Given the description of an element on the screen output the (x, y) to click on. 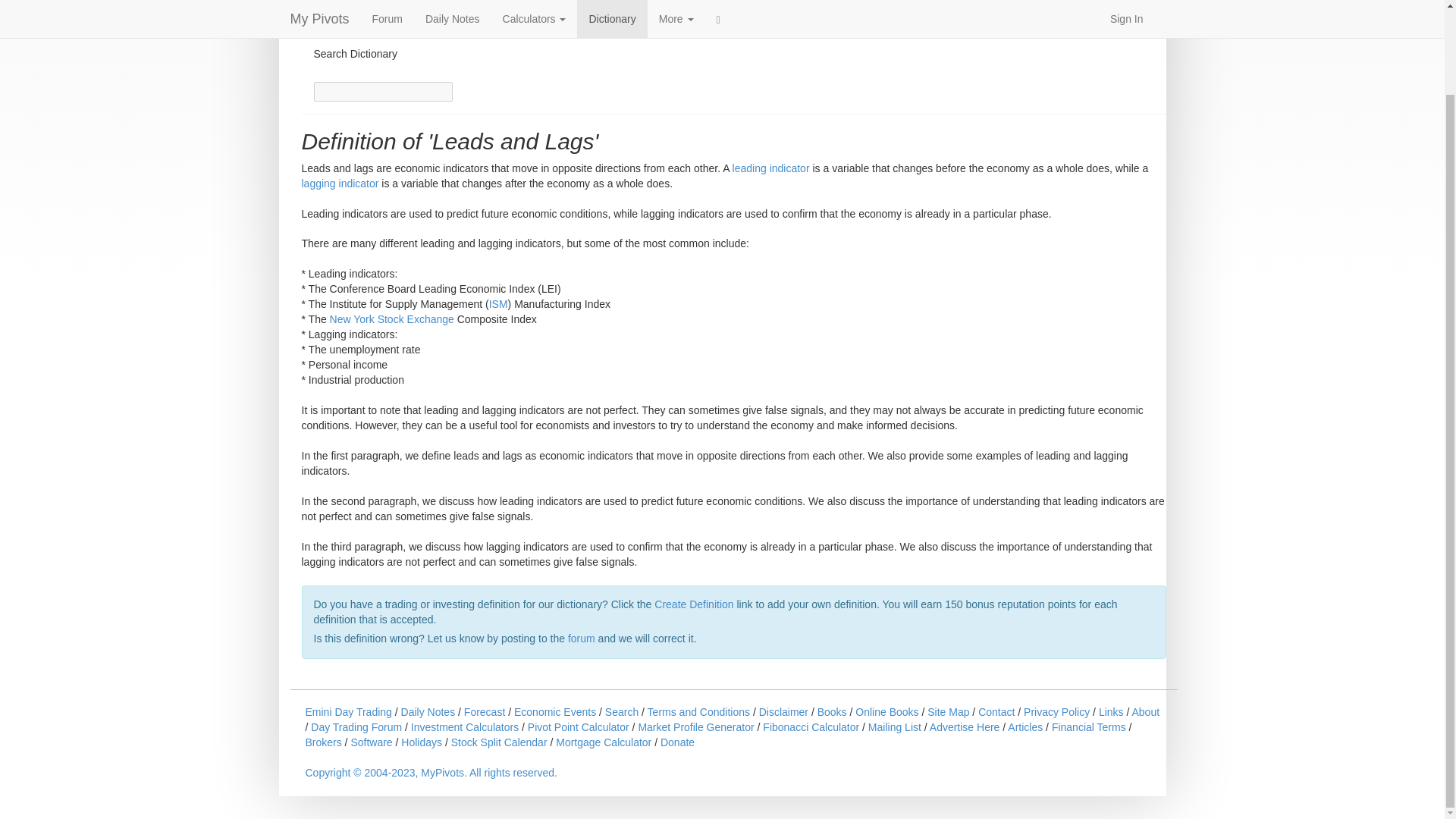
Forecast (484, 711)
Links (1111, 711)
Dictionary (336, 9)
forum (581, 638)
Economic Events (554, 711)
Site Map (948, 711)
New York Stock Exchange (392, 318)
Leading Indicator (770, 168)
lagging indicator (339, 183)
Disclaimer (783, 711)
Books (831, 711)
Daily Notes (428, 711)
Emini Day Trading (347, 711)
ISM (498, 304)
leading indicator (770, 168)
